Given the description of an element on the screen output the (x, y) to click on. 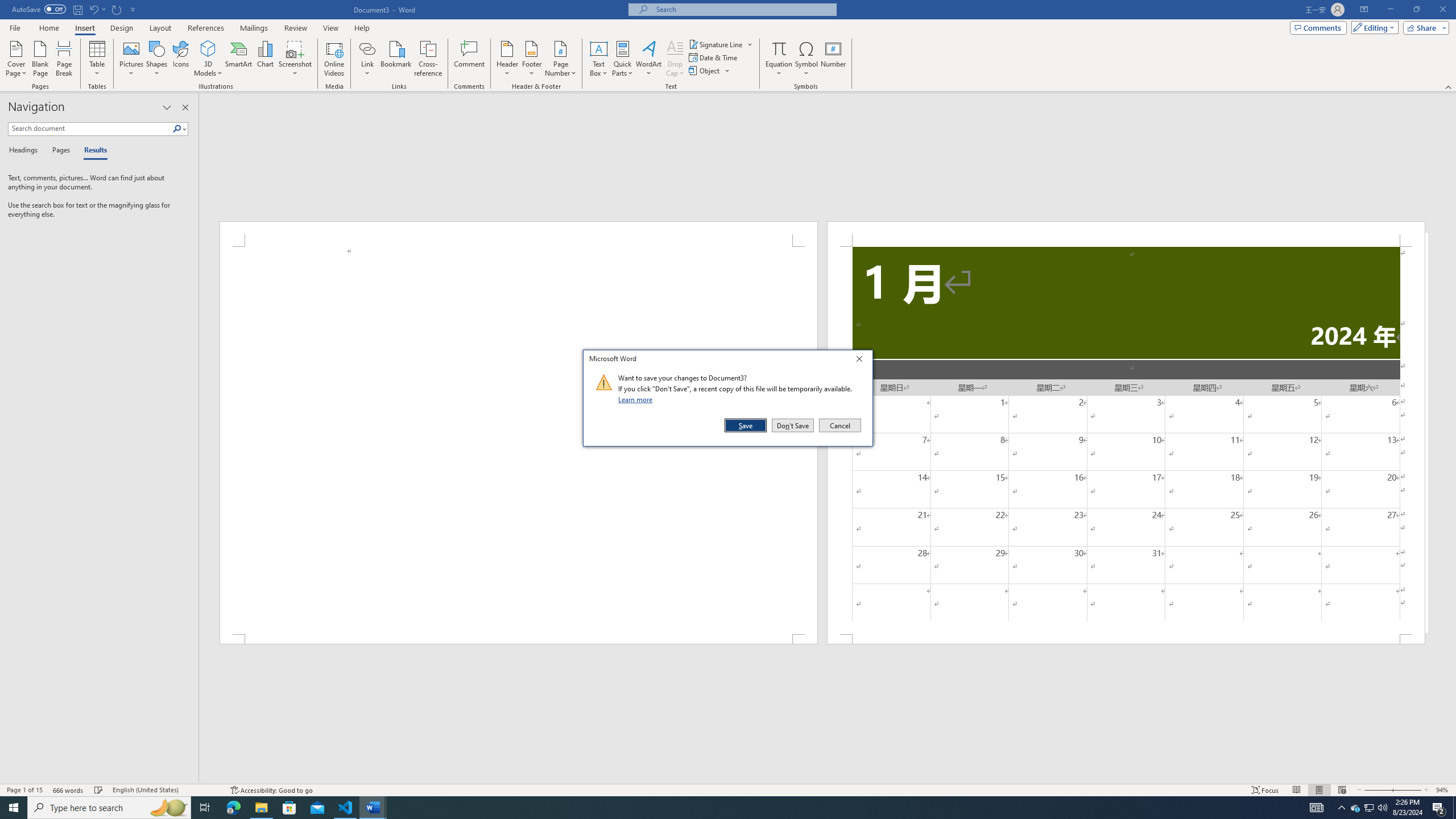
Task View (204, 807)
Action Center, 2 new notifications (1439, 807)
Search document (89, 128)
Number... (833, 58)
Header (507, 58)
Quick Parts (622, 58)
Link (367, 48)
Date & Time... (714, 56)
Text Box (598, 58)
